Given the description of an element on the screen output the (x, y) to click on. 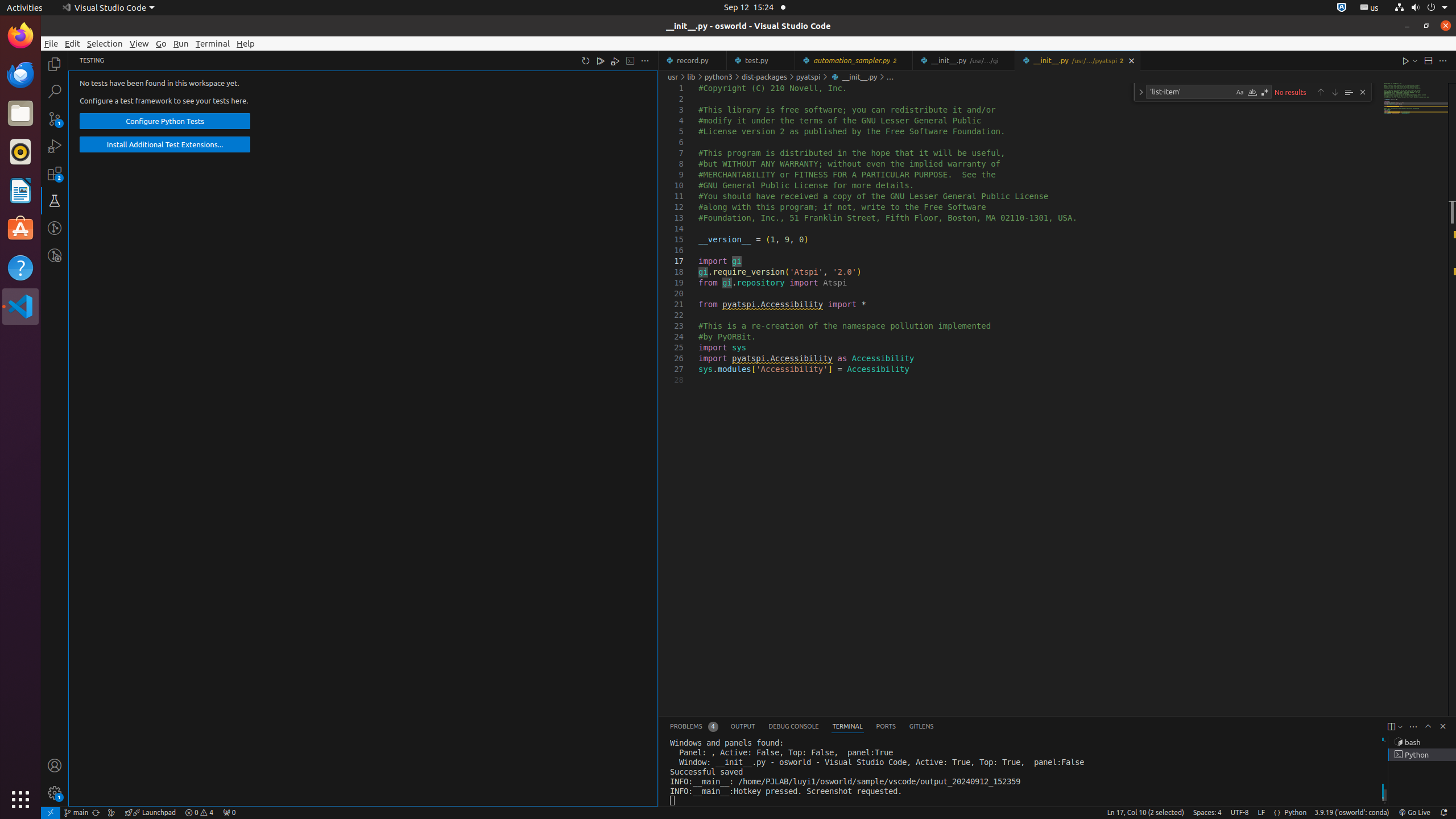
Run or Debug... Element type: push-button (1414, 60)
More Actions... Element type: push-button (1442, 60)
Selection Element type: push-button (104, 43)
Testing Element type: page-tab (54, 200)
